Given the description of an element on the screen output the (x, y) to click on. 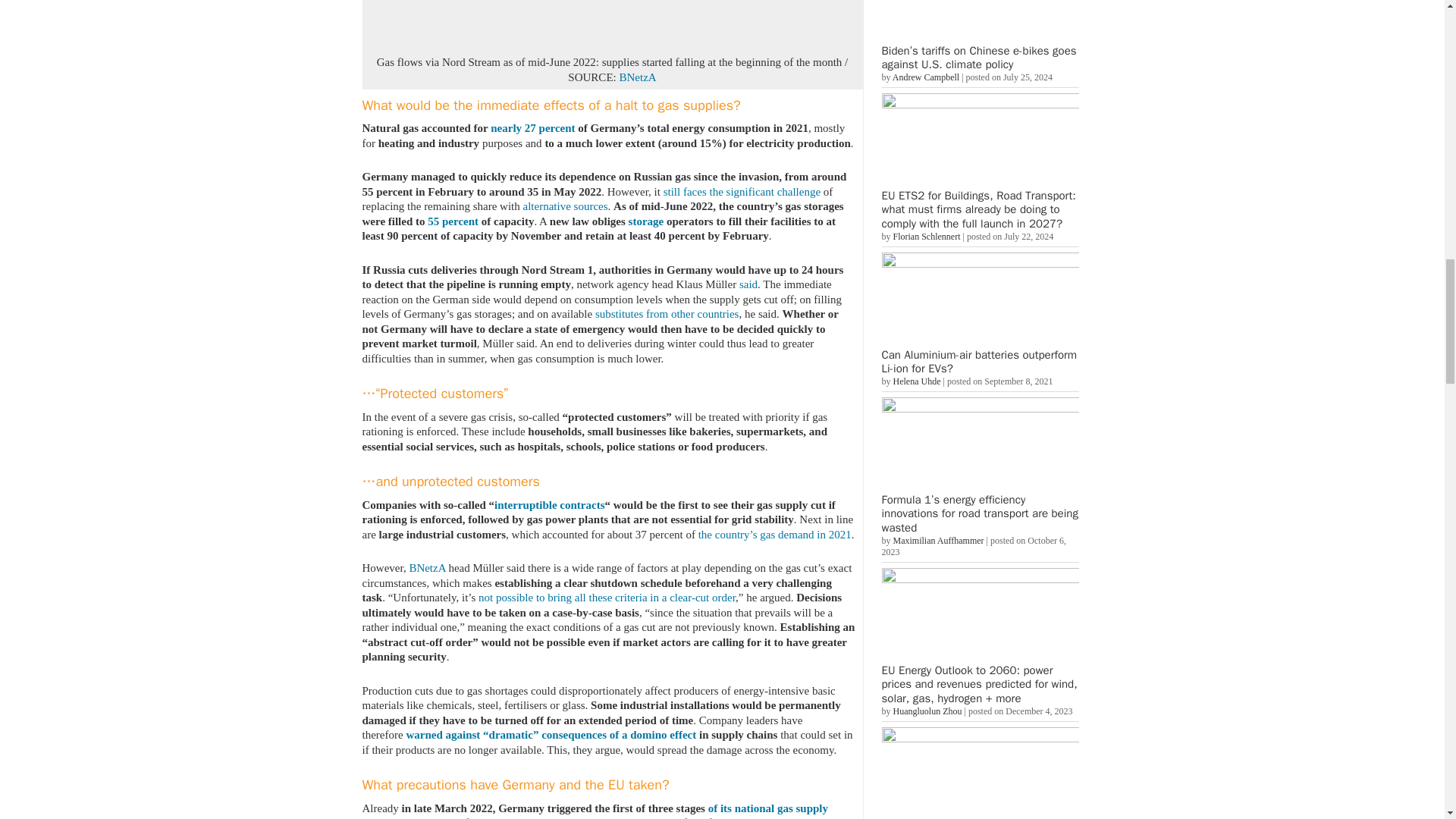
BNetzA (637, 77)
said (748, 284)
storage (645, 221)
still faces the significant challenge (742, 191)
alternative sources (565, 205)
nearly 27 percent (532, 128)
55 percent (453, 221)
